Given the description of an element on the screen output the (x, y) to click on. 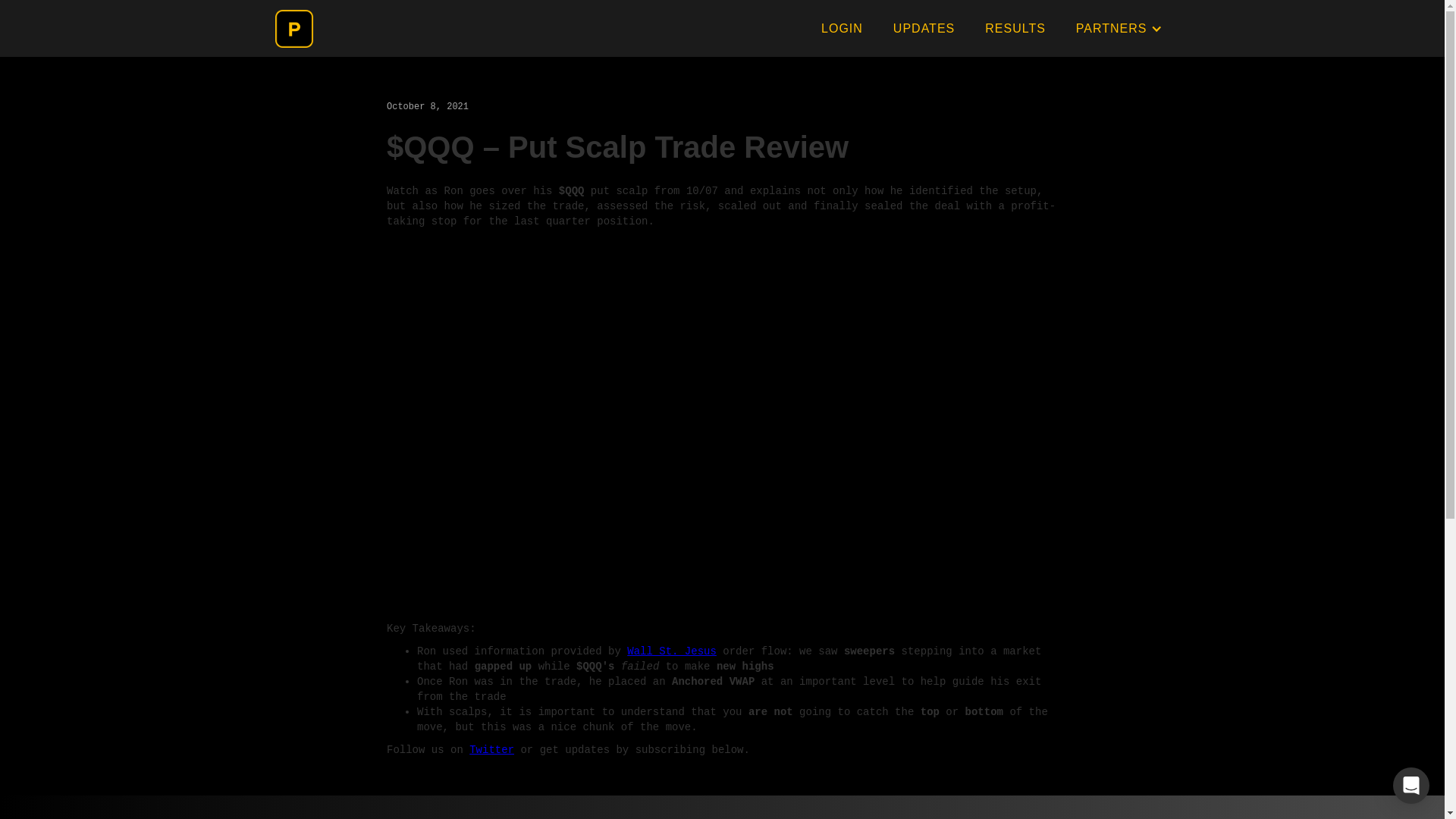
Twitter (490, 749)
LOGIN (841, 27)
UPDATES (923, 27)
Wall St. Jesus (671, 651)
RESULTS (1015, 27)
